Given the description of an element on the screen output the (x, y) to click on. 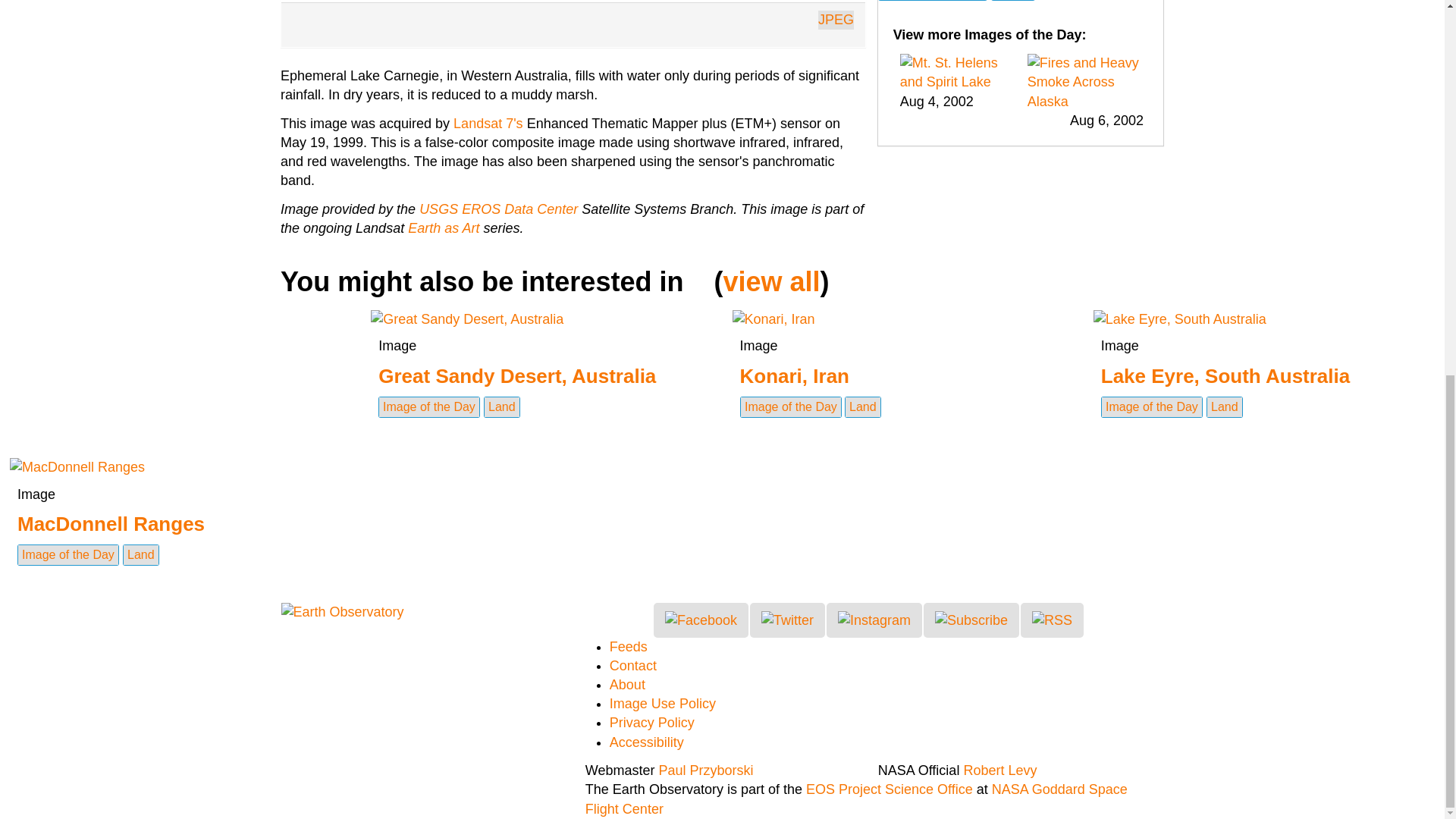
Instagram (874, 620)
RSS (1051, 620)
Subscribe (971, 620)
Earth Observatory (342, 611)
Twitter (787, 620)
Facebook (700, 620)
